Given the description of an element on the screen output the (x, y) to click on. 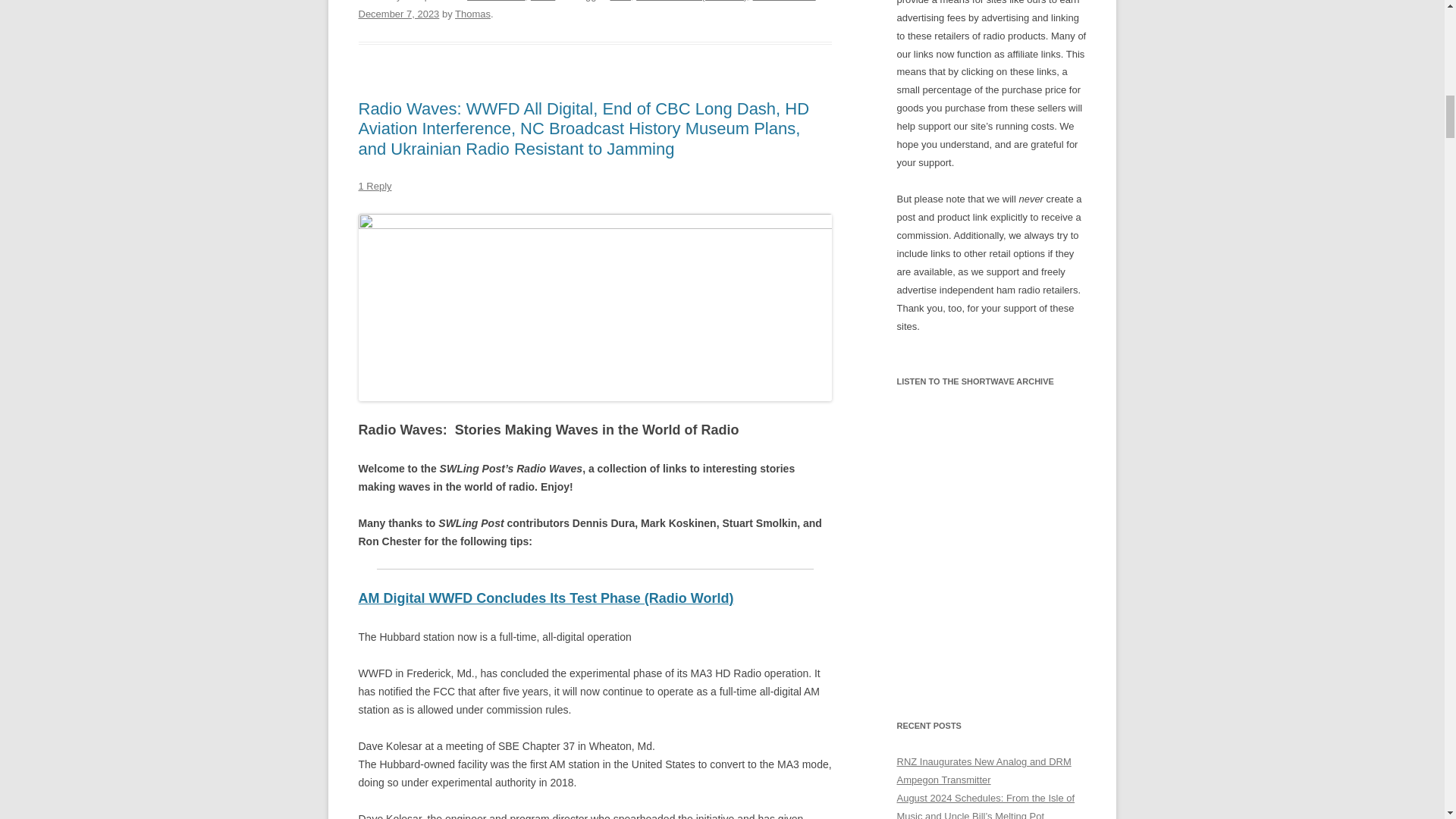
View all posts by Thomas (472, 13)
Thomas (472, 13)
Radio Canada (783, 0)
News (542, 0)
Broadcasters (496, 0)
December 7, 2023 (398, 13)
7:34 am (398, 13)
CBC (620, 0)
